Given the description of an element on the screen output the (x, y) to click on. 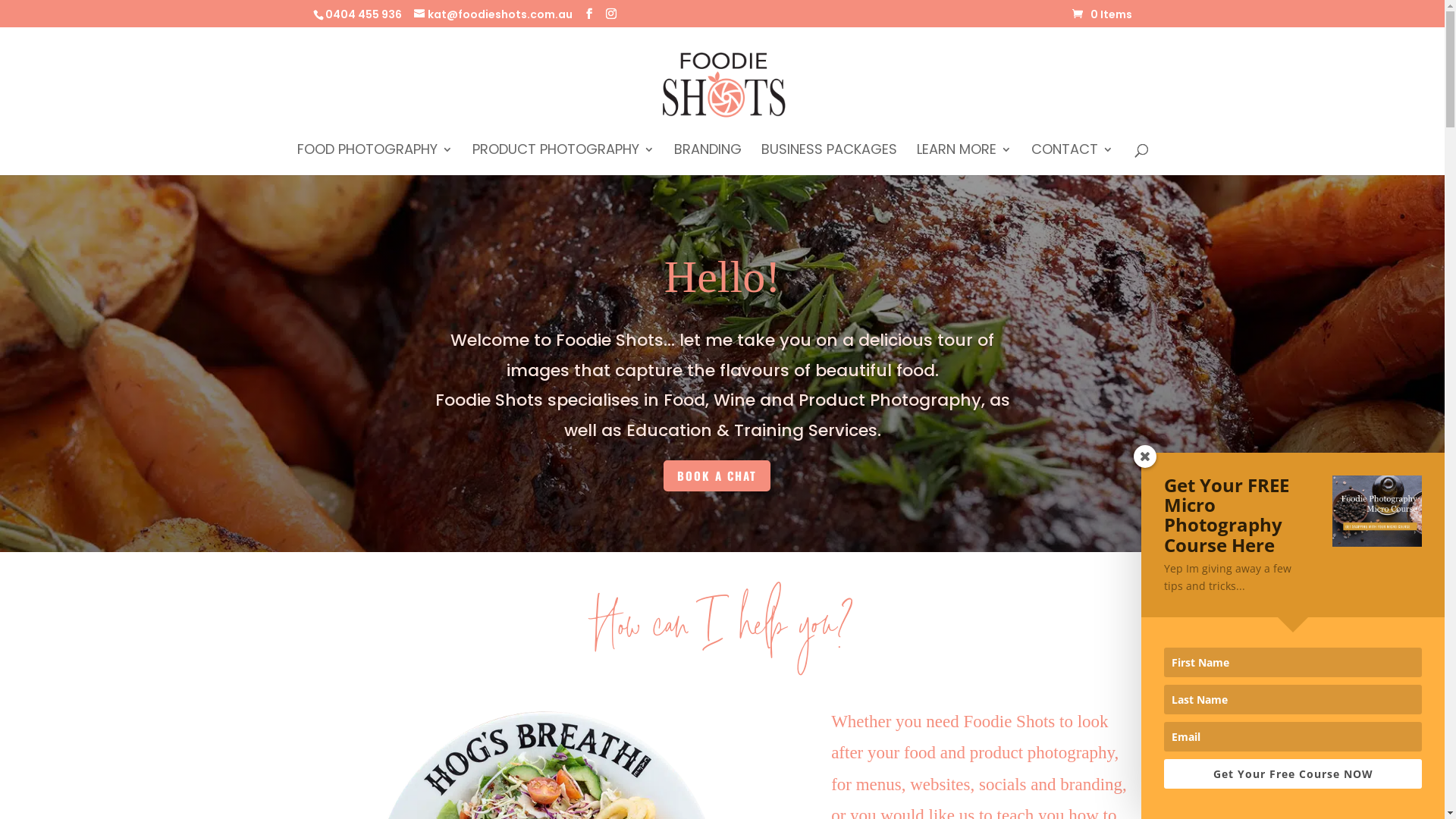
BUSINESS PACKAGES Element type: text (829, 159)
BOOK A CHAT Element type: text (715, 475)
BRANDING Element type: text (706, 159)
FOOD PHOTOGRAPHY Element type: text (374, 159)
LEARN MORE Element type: text (963, 159)
kat@foodieshots.com.au Element type: text (493, 13)
CONTACT Element type: text (1072, 159)
Get Your Free Course NOW Element type: text (1292, 773)
0 Items Element type: text (1102, 13)
PRODUCT PHOTOGRAPHY Element type: text (562, 159)
